Given the description of an element on the screen output the (x, y) to click on. 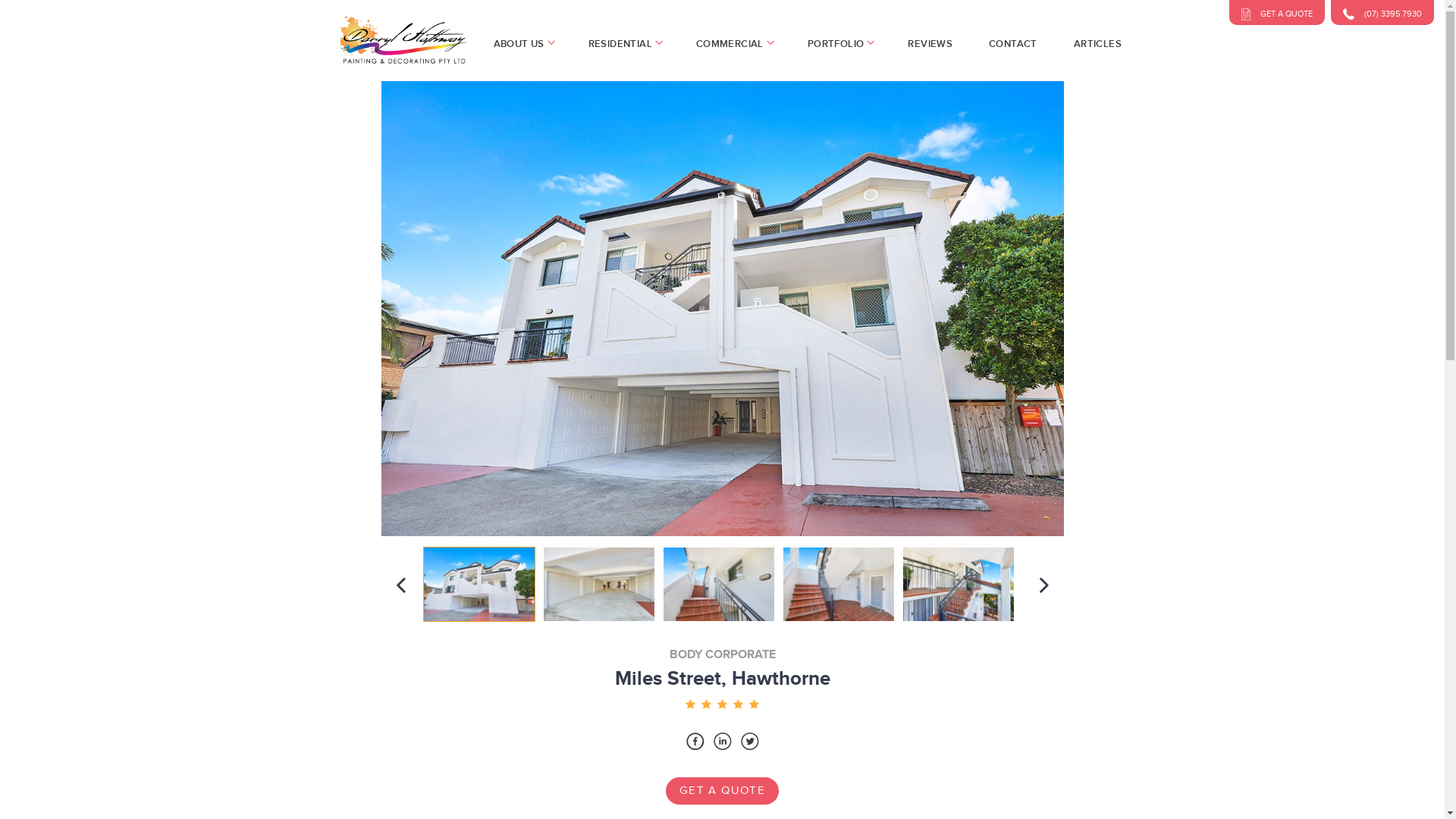
ARTICLES Element type: text (1097, 43)
REVIEWS Element type: text (929, 43)
COMMERCIAL Element type: text (733, 43)
PORTFOLIO Element type: text (839, 43)
ABOUT US Element type: text (521, 43)
RESIDENTIAL Element type: text (623, 43)
CONTACT Element type: text (1012, 43)
GET A QUOTE Element type: text (721, 790)
